Given the description of an element on the screen output the (x, y) to click on. 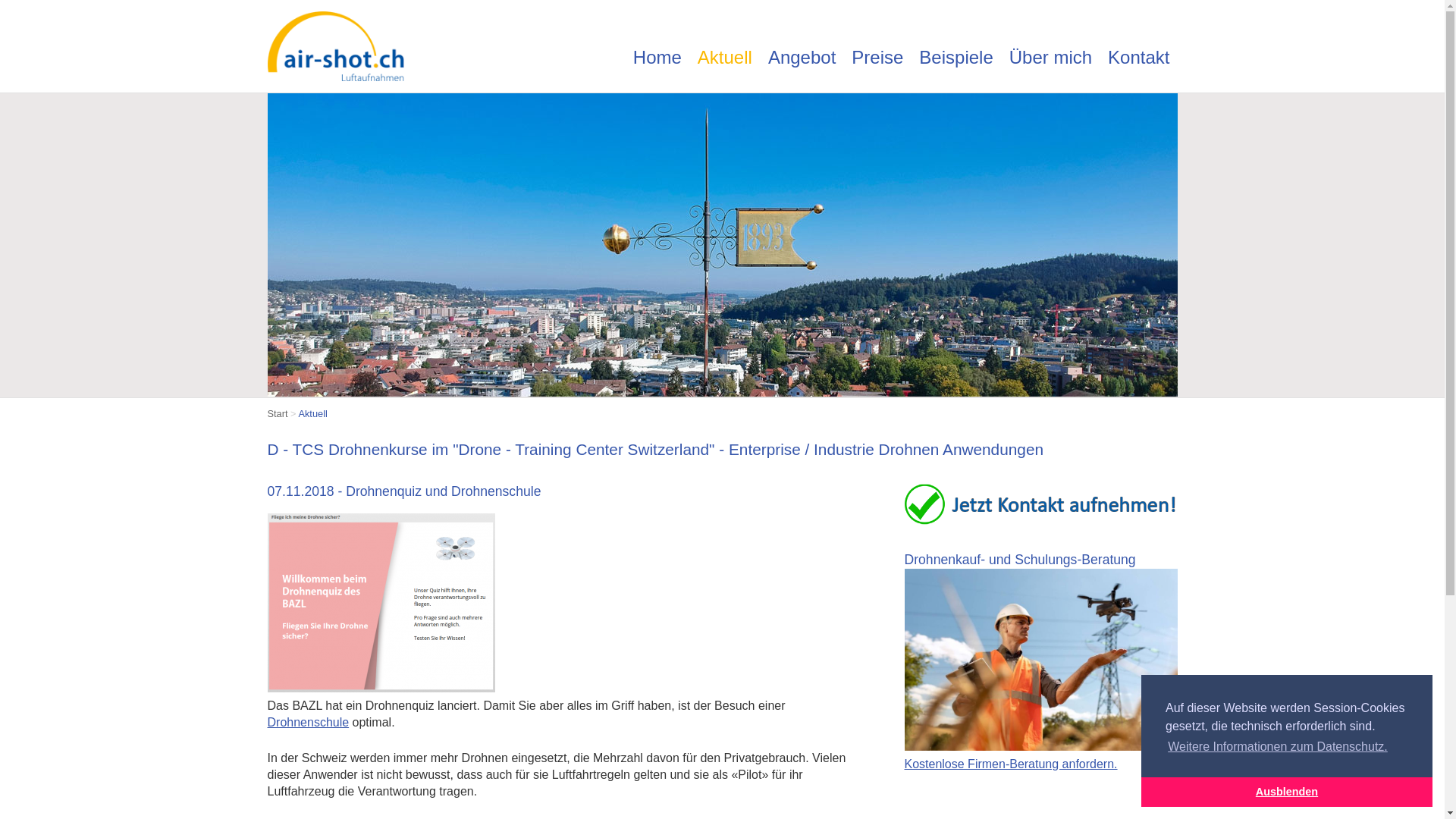
Aktuell Element type: text (724, 58)
Beispiele Element type: text (955, 58)
Home Element type: text (657, 58)
Drohnenschule Element type: text (307, 721)
Angebot Element type: text (801, 58)
Kontakt Element type: text (1138, 58)
Preise Element type: text (877, 58)
Start Element type: text (276, 413)
Ausblenden Element type: text (1286, 791)
Kostenlose Firmen-Beratung anfordern. Element type: text (1039, 754)
Aktuell Element type: text (312, 413)
Weitere Informationen zum Datenschutz. Element type: text (1277, 746)
